Given the description of an element on the screen output the (x, y) to click on. 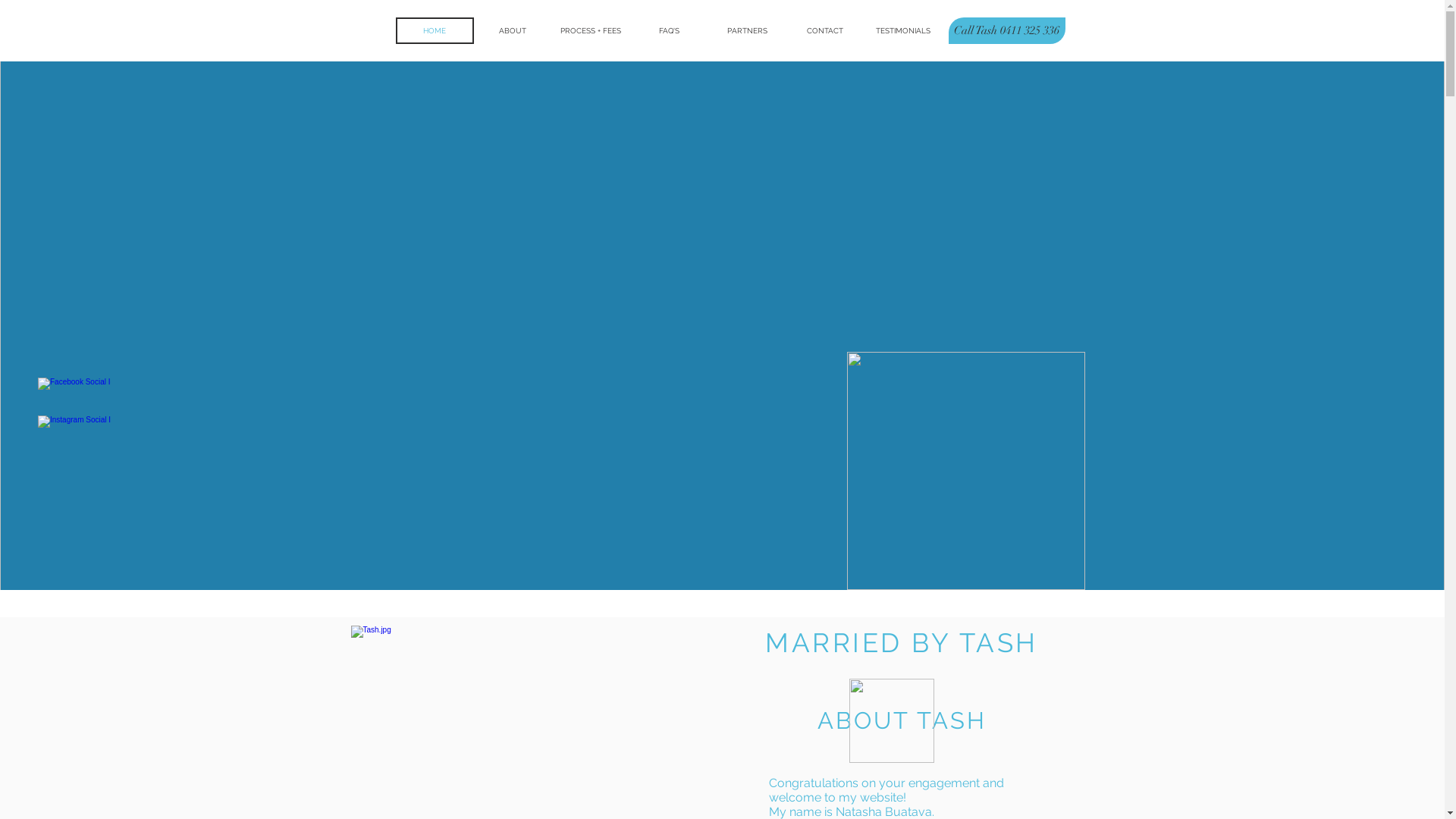
TESTIMONIALS Element type: text (903, 30)
HOME Element type: text (434, 30)
ABOUT Element type: text (512, 30)
CONTACT Element type: text (824, 30)
FAQ'S Element type: text (668, 30)
Shape-1-copy-2.png Element type: hover (891, 720)
PARTNERS Element type: text (747, 30)
Call Tash 0411 325 336 Element type: text (1005, 30)
PROCESS + FEES Element type: text (591, 30)
